Given the description of an element on the screen output the (x, y) to click on. 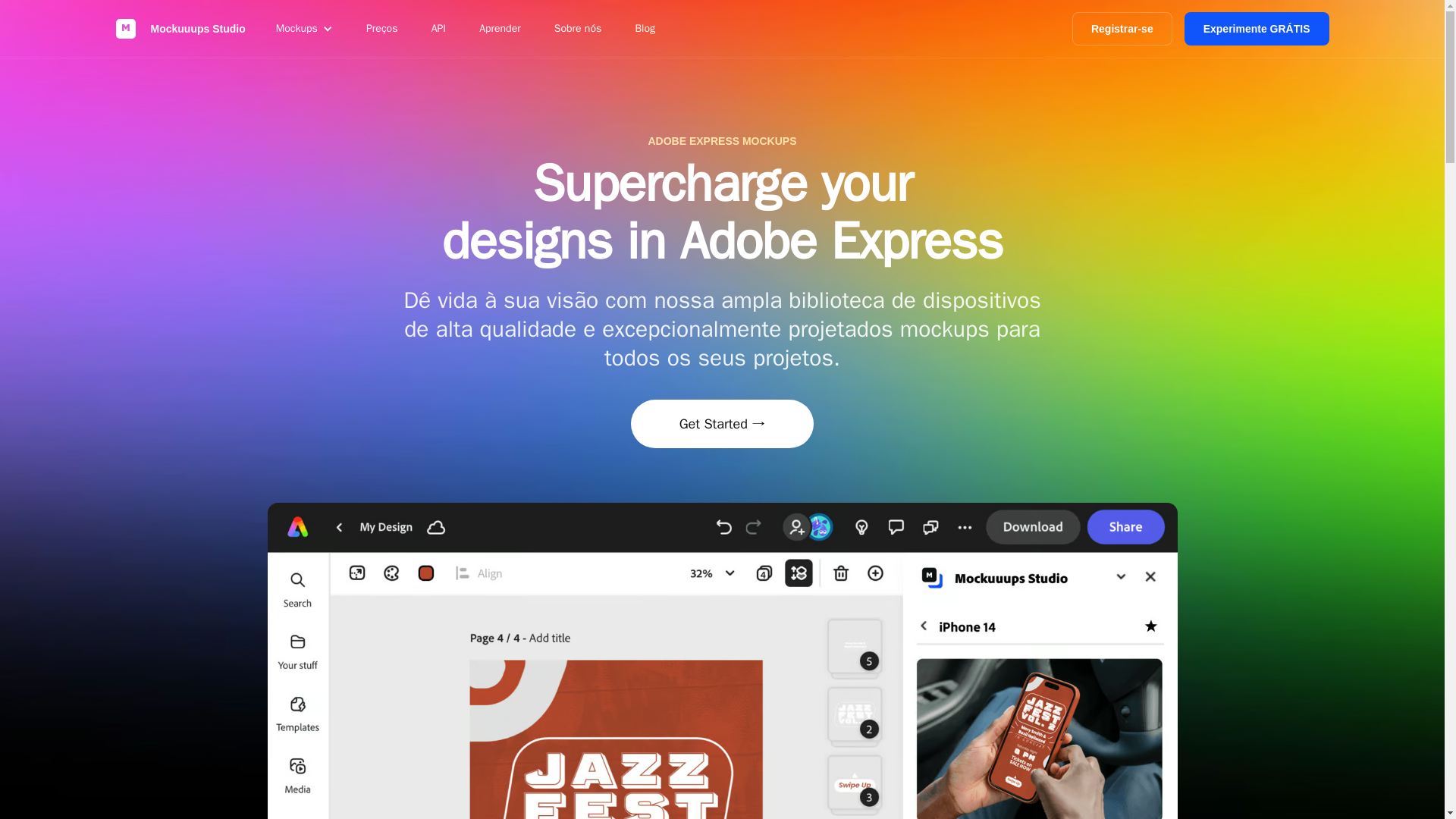
Aprender (499, 28)
Registrar-se (1121, 28)
Mockuuups Studio (179, 28)
Blog (644, 28)
API (438, 28)
